Given the description of an element on the screen output the (x, y) to click on. 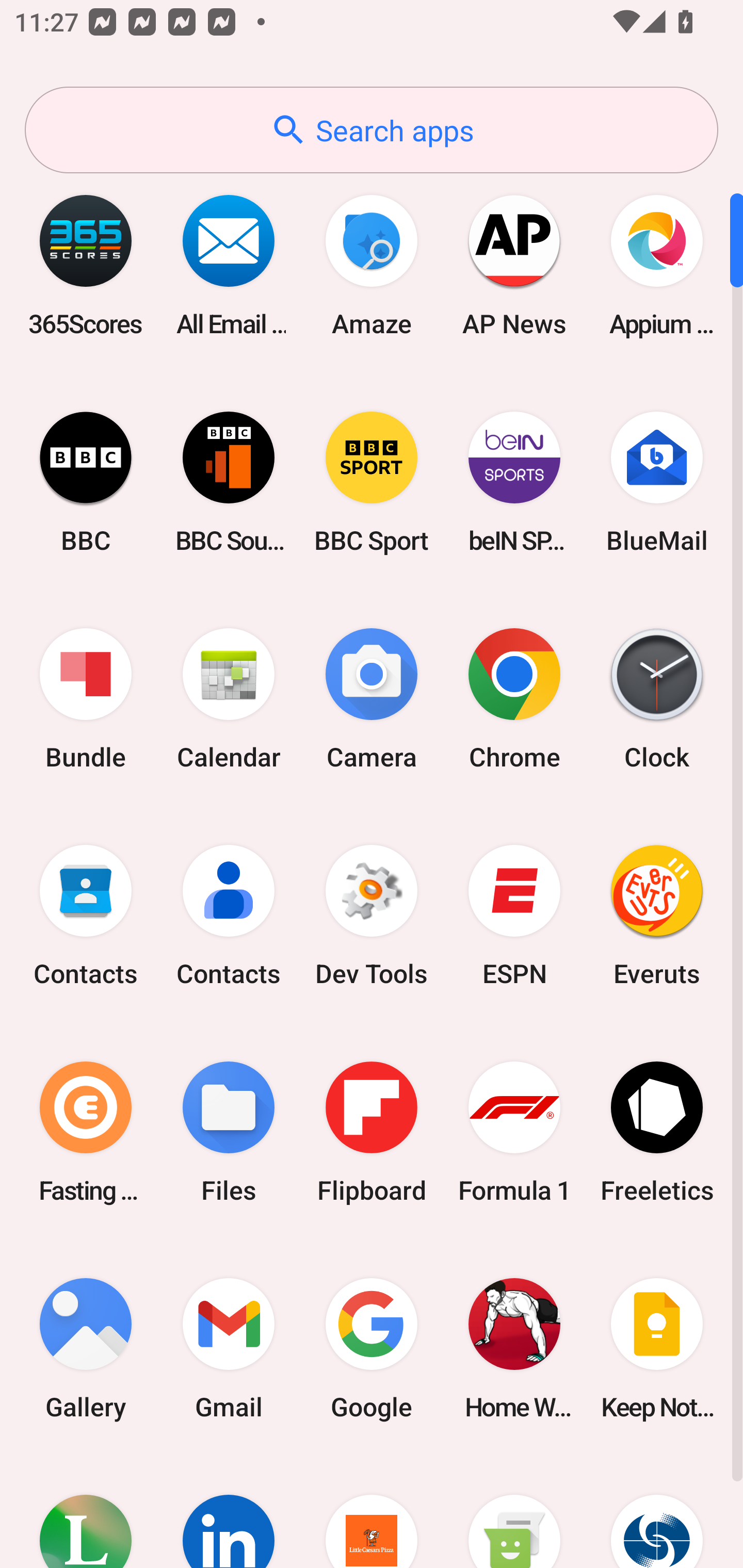
  Search apps (371, 130)
365Scores (85, 264)
All Email Connect (228, 264)
Amaze (371, 264)
AP News (514, 264)
Appium Settings (656, 264)
BBC (85, 482)
BBC Sounds (228, 482)
BBC Sport (371, 482)
beIN SPORTS (514, 482)
BlueMail (656, 482)
Bundle (85, 699)
Calendar (228, 699)
Camera (371, 699)
Chrome (514, 699)
Clock (656, 699)
Contacts (85, 915)
Contacts (228, 915)
Dev Tools (371, 915)
ESPN (514, 915)
Everuts (656, 915)
Fasting Coach (85, 1131)
Files (228, 1131)
Flipboard (371, 1131)
Formula 1 (514, 1131)
Freeletics (656, 1131)
Gallery (85, 1348)
Gmail (228, 1348)
Google (371, 1348)
Home Workout (514, 1348)
Keep Notes (656, 1348)
Lifesum (85, 1512)
LinkedIn (228, 1512)
Little Caesars Pizza (371, 1512)
Messaging (514, 1512)
MyObservatory (656, 1512)
